Given the description of an element on the screen output the (x, y) to click on. 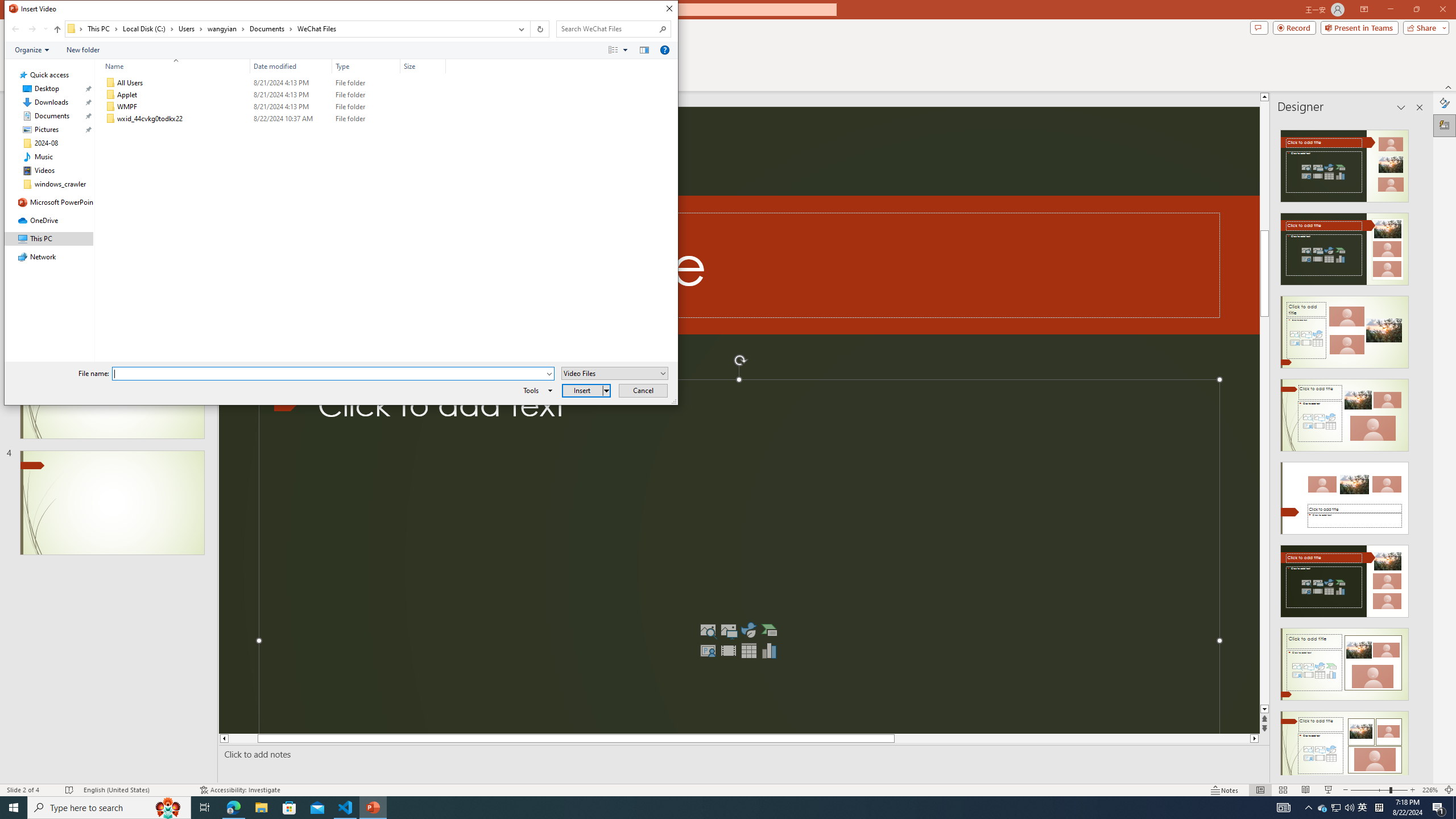
Stock Images (707, 629)
wxid_44cvkg0todkx22 (273, 119)
Up band toolbar (57, 30)
Address: C:\Users\wangyian\Documents\WeChat Files (288, 28)
Recent locations (44, 28)
Size (422, 119)
Up to "Documents" (Alt + Up Arrow) (57, 29)
